Given the description of an element on the screen output the (x, y) to click on. 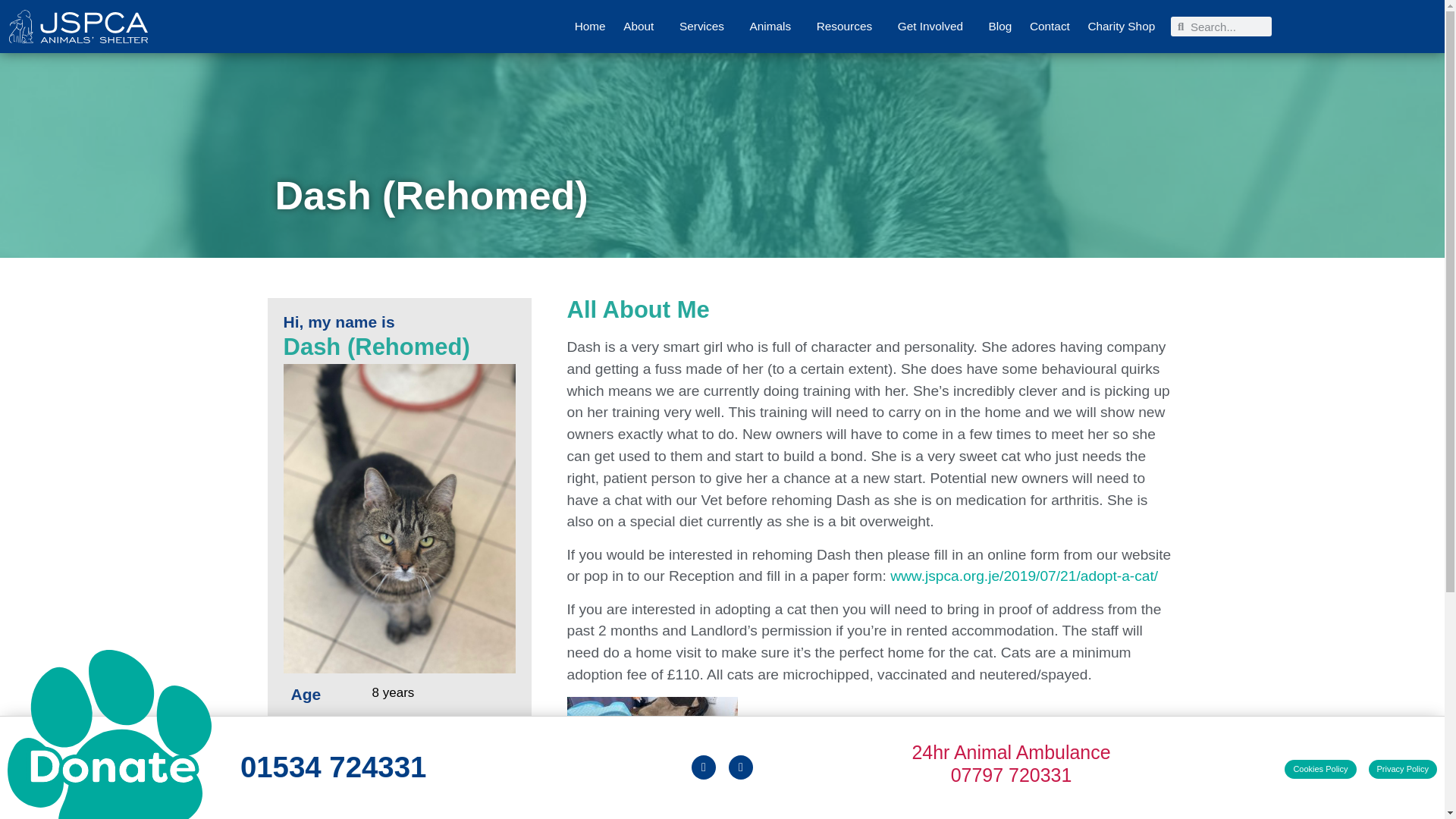
Get Involved (933, 26)
Contact (1050, 26)
Services (705, 26)
Home (590, 26)
Animals (773, 26)
Resources (848, 26)
Charity Shop (1120, 26)
About (641, 26)
